Given the description of an element on the screen output the (x, y) to click on. 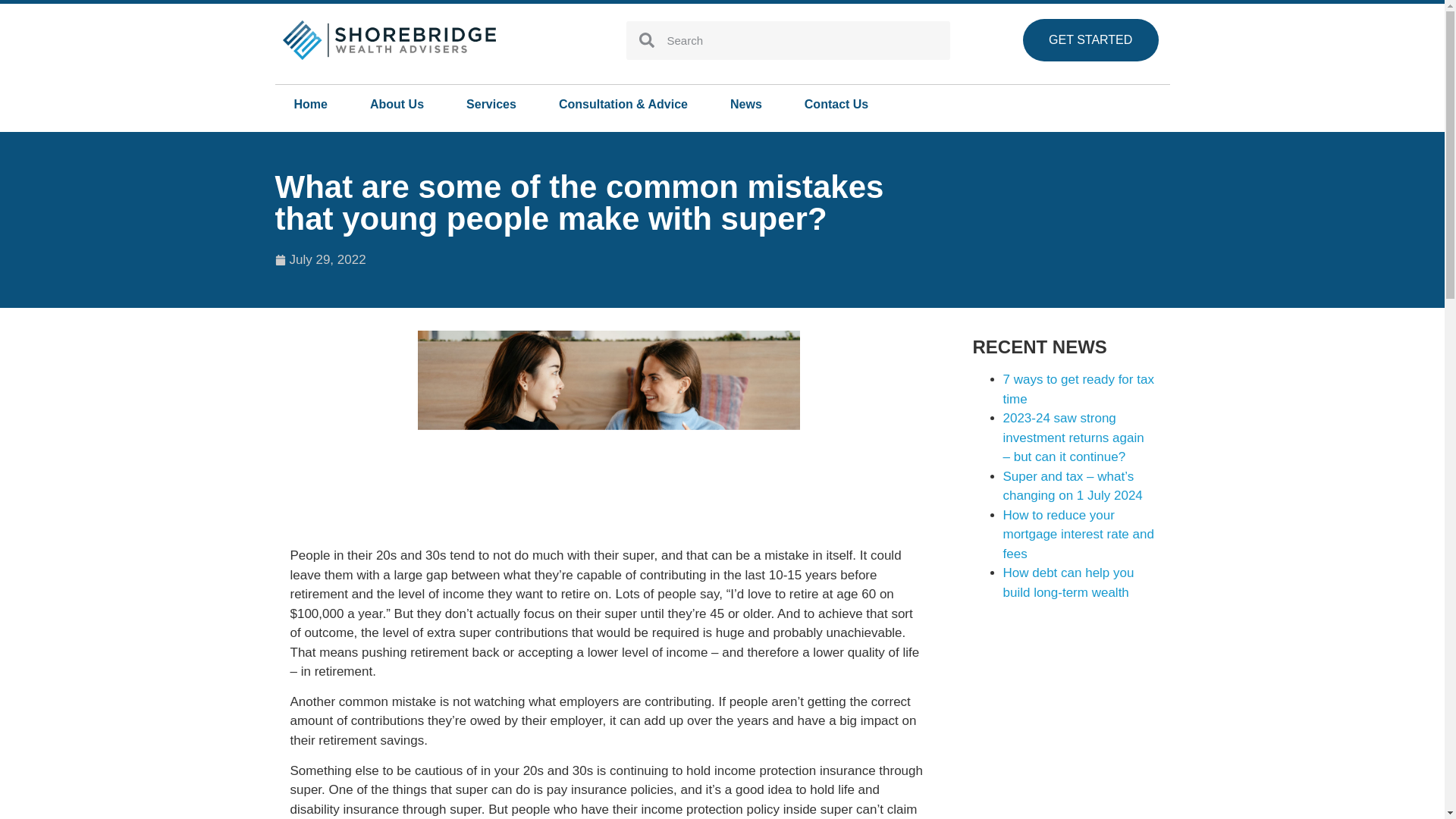
Home (310, 104)
About Us (396, 104)
GET STARTED (1090, 39)
Services (490, 104)
